Given the description of an element on the screen output the (x, y) to click on. 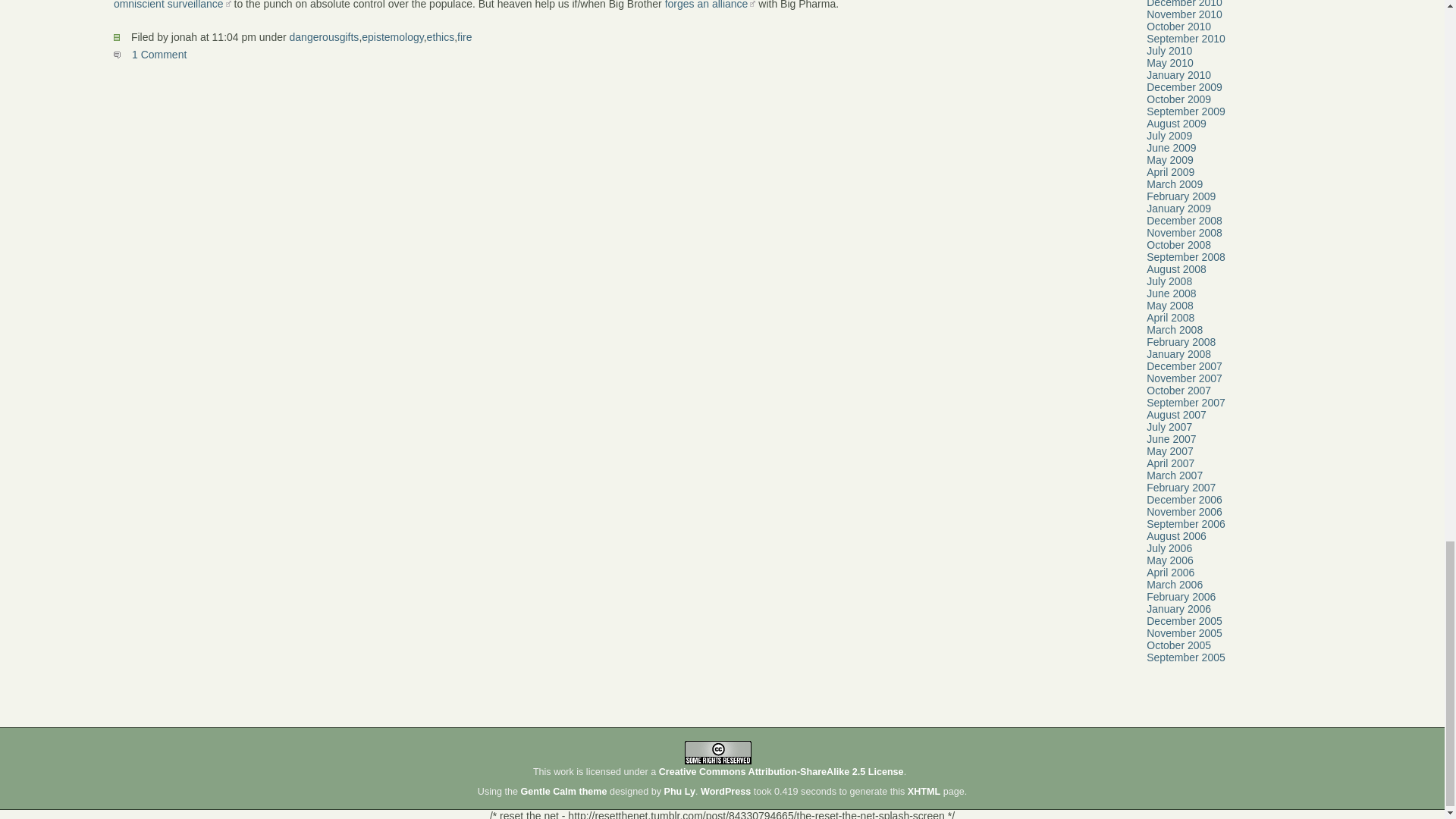
dangerousgifts (324, 37)
epistemology (392, 37)
forges an alliance (710, 4)
1 Comment (149, 54)
ethics (440, 37)
omniscient surveillance (172, 4)
fire (464, 37)
